Given the description of an element on the screen output the (x, y) to click on. 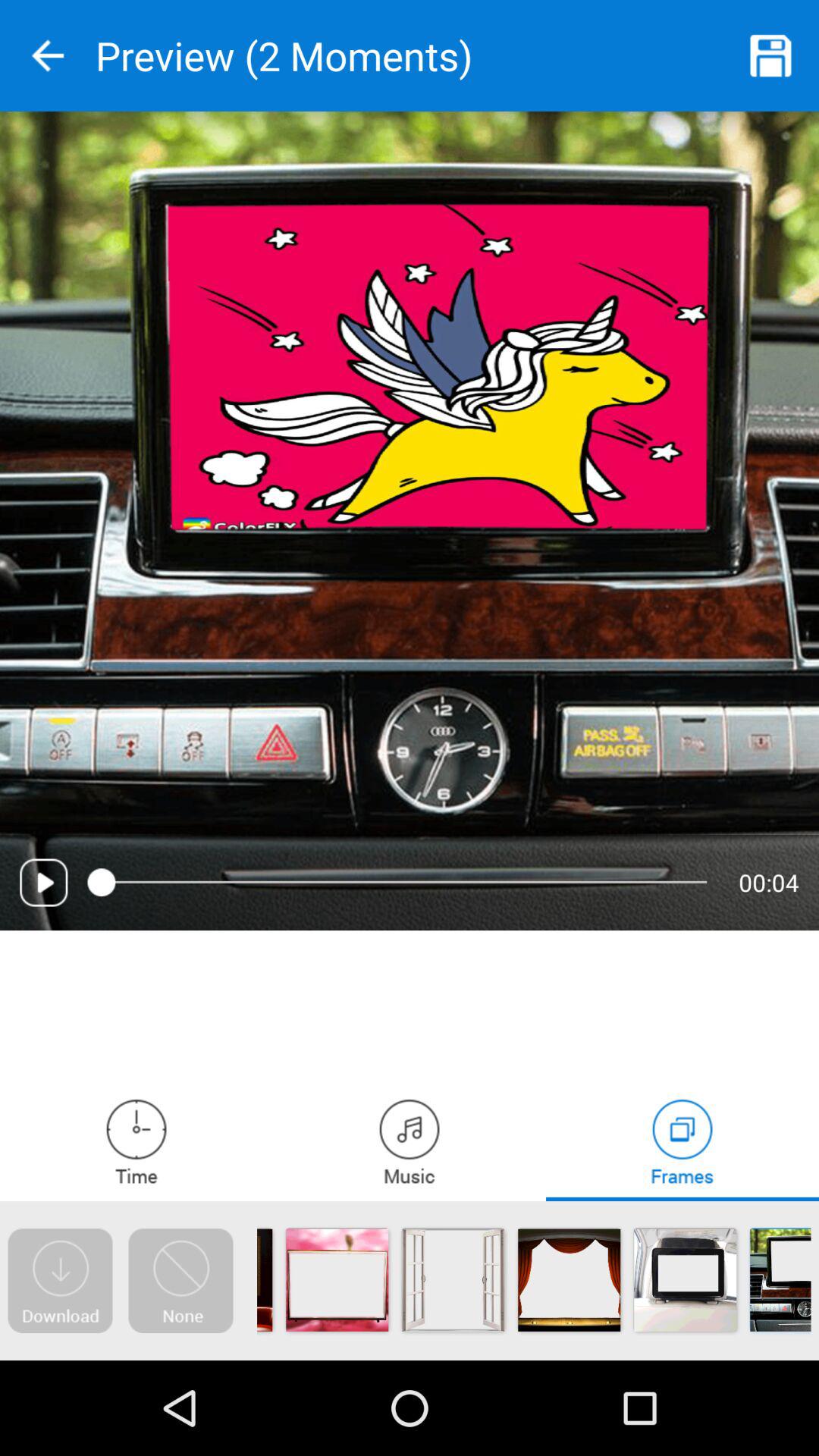
go back (47, 55)
